Given the description of an element on the screen output the (x, y) to click on. 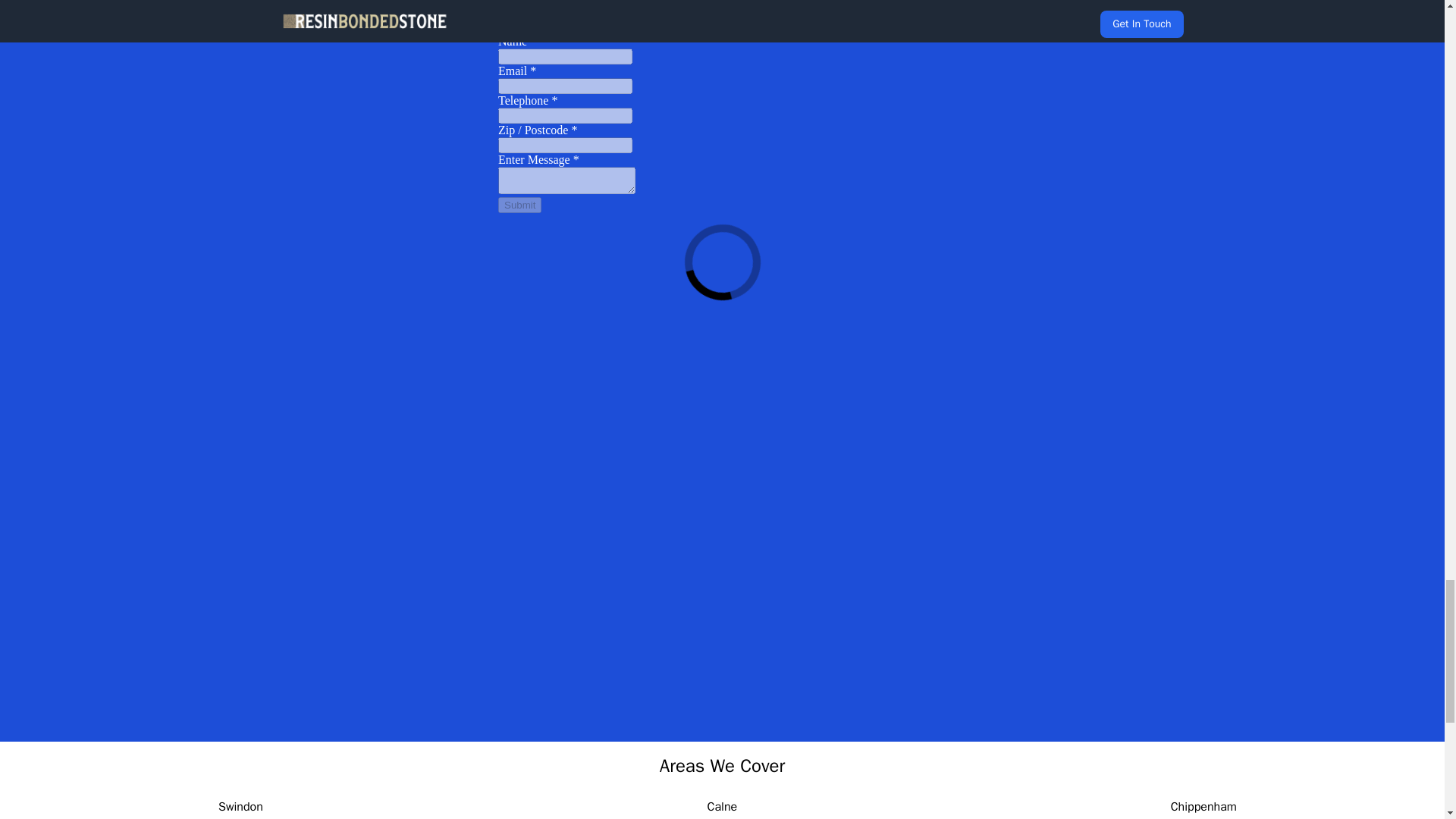
Chippenham (1203, 806)
Swindon (240, 806)
Calne (722, 806)
